Given the description of an element on the screen output the (x, y) to click on. 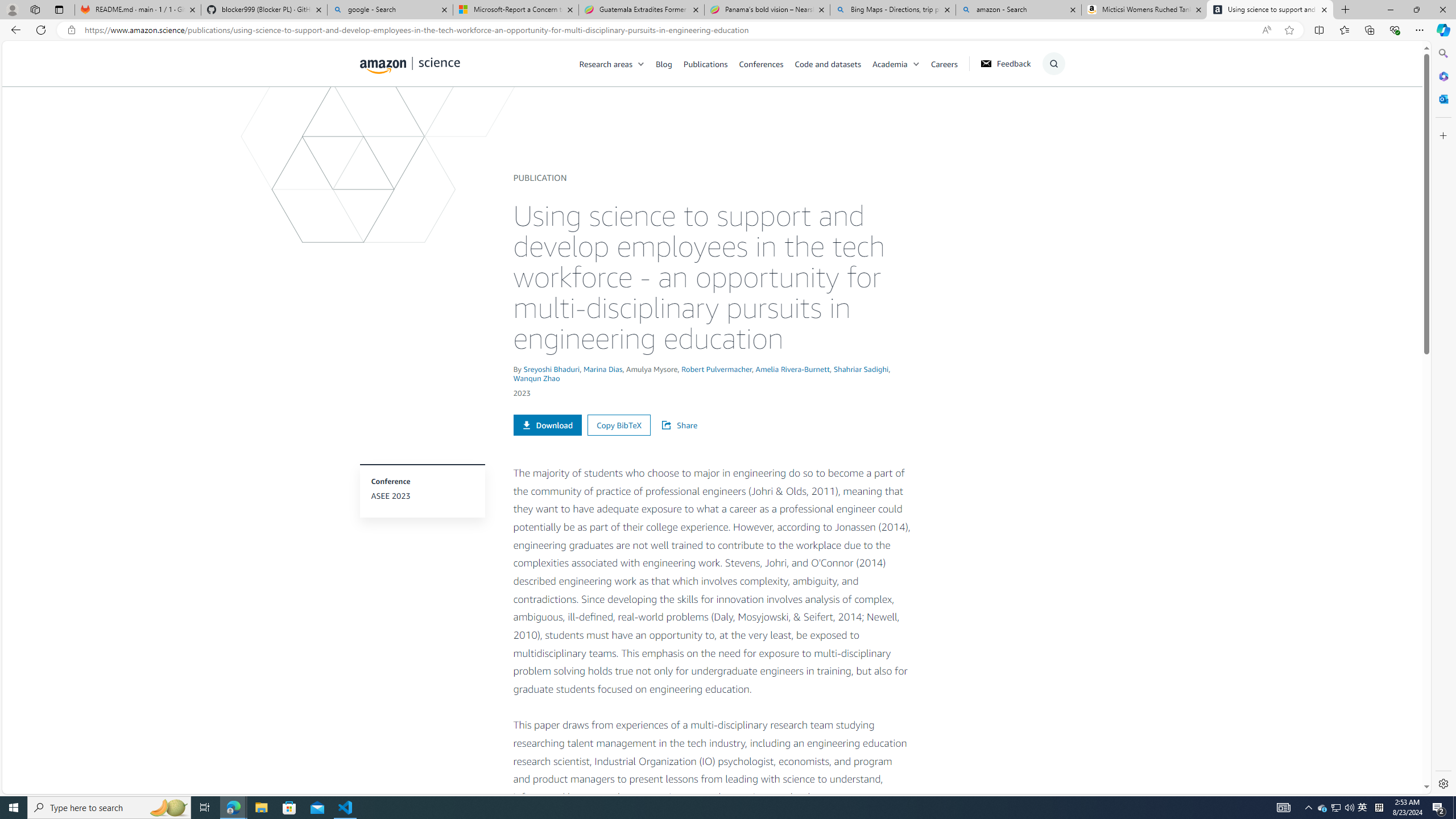
Academia (889, 63)
Copy BibTeX (618, 424)
Microsoft-Report a Concern to Bing (515, 9)
Feedback (1004, 63)
Sreyoshi Bhaduri (550, 368)
Share (684, 424)
